Given the description of an element on the screen output the (x, y) to click on. 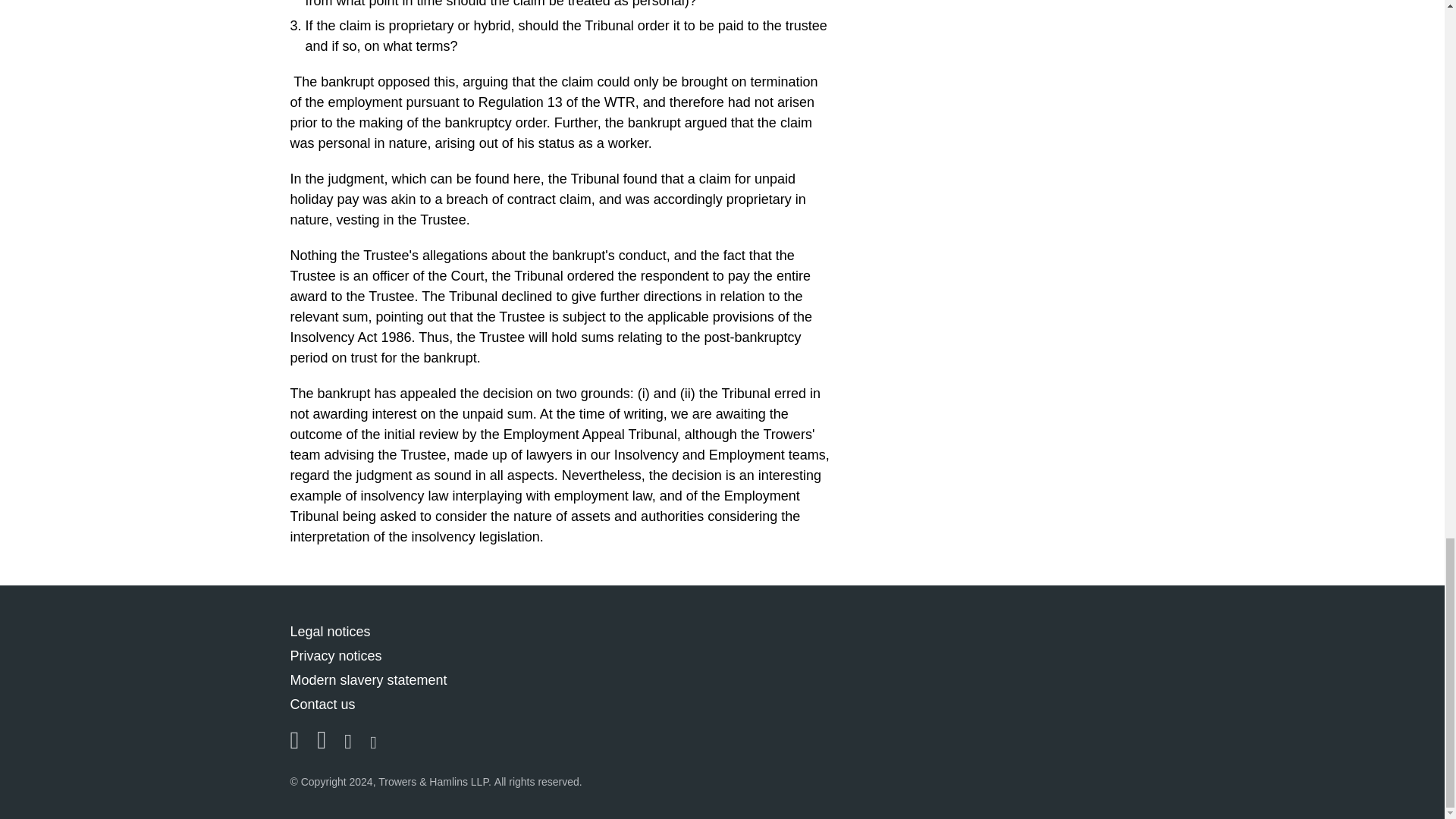
SRA Badge (1094, 676)
